Given the description of an element on the screen output the (x, y) to click on. 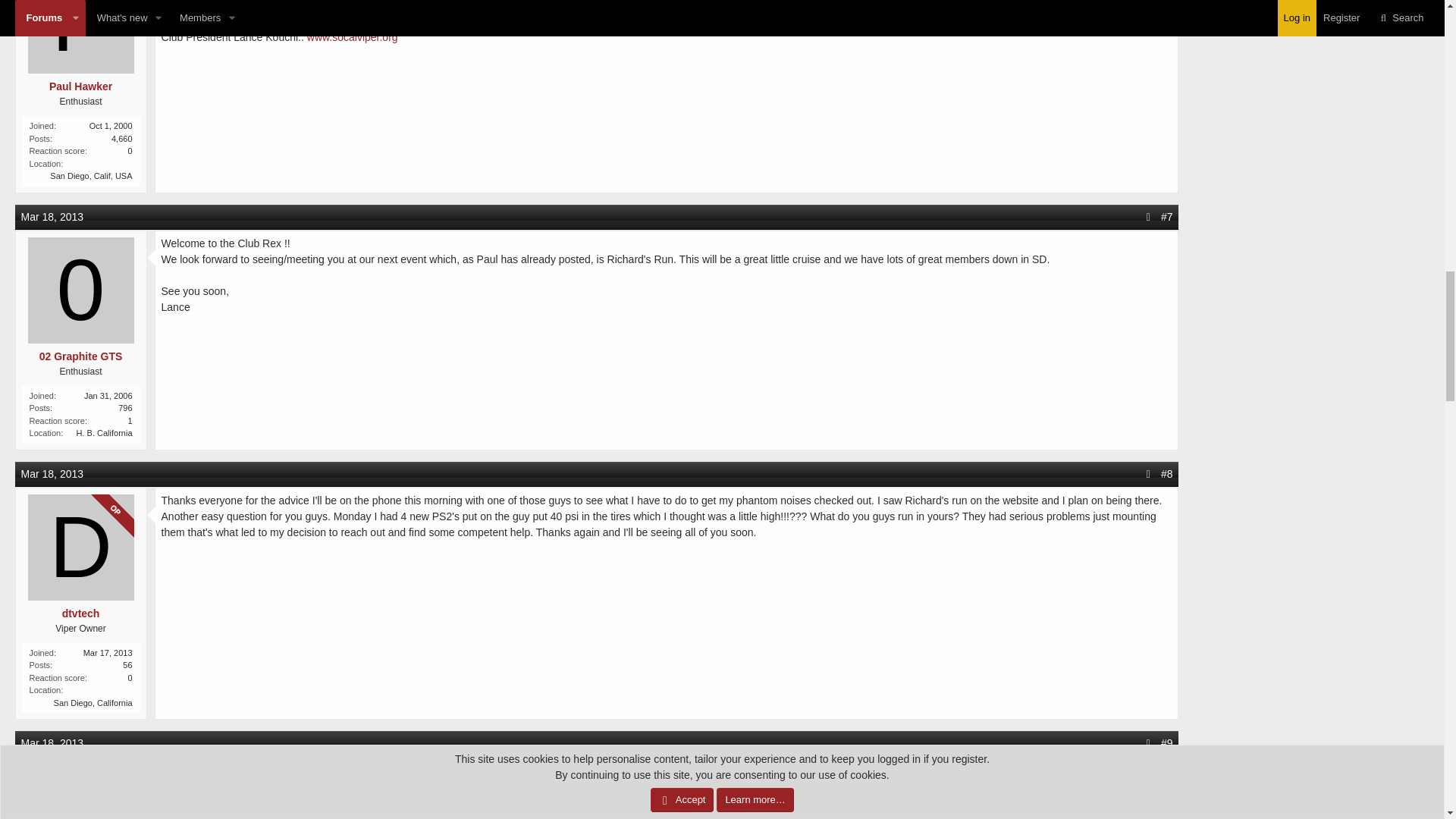
Mar 18, 2013 at 12:15 AM (52, 216)
Mar 18, 2013 at 3:23 PM (52, 743)
Mar 18, 2013 at 8:35 AM (52, 473)
